Given the description of an element on the screen output the (x, y) to click on. 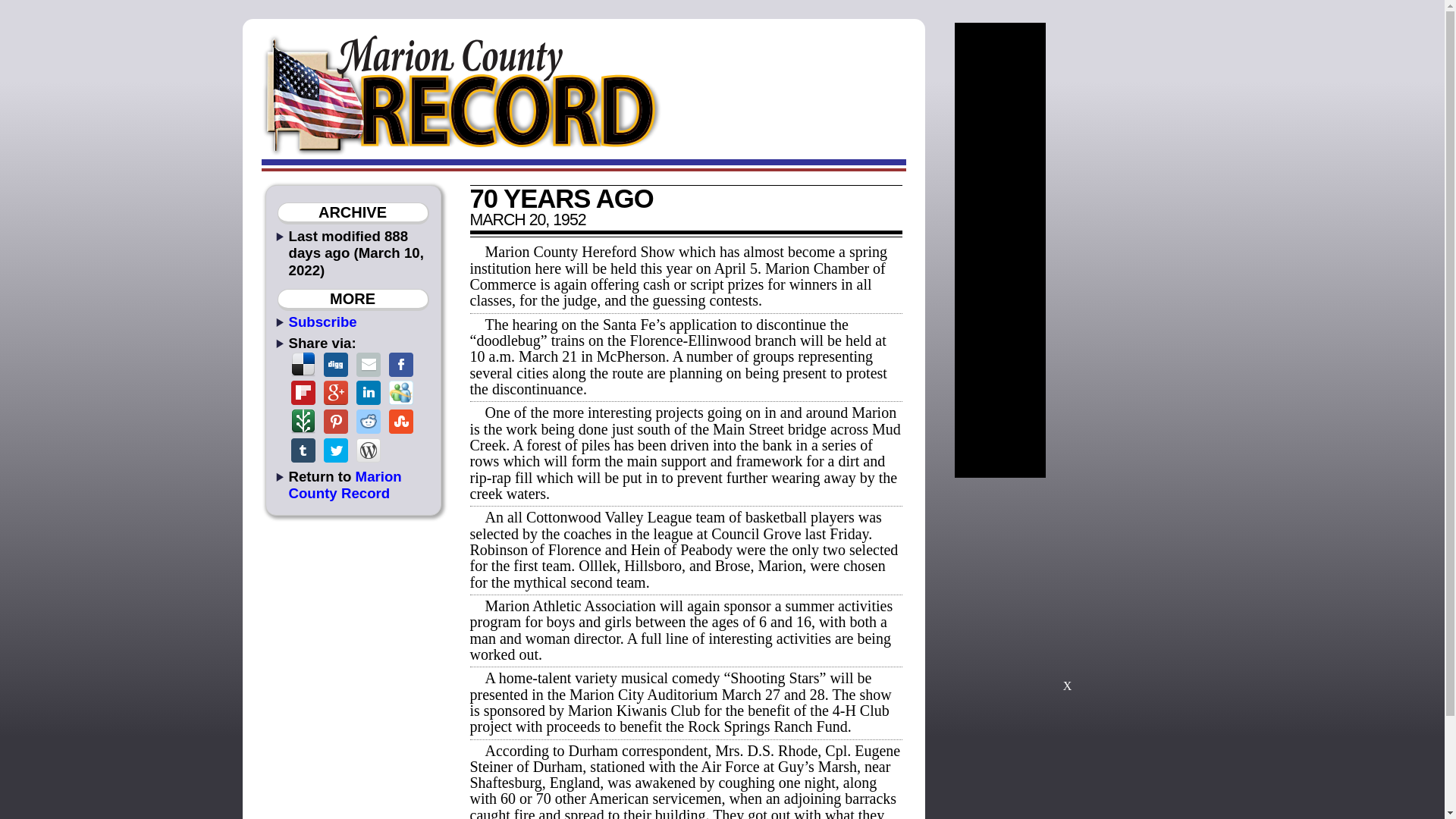
Marion County Record (344, 484)
Advertisement (1067, 591)
Subscribe (322, 321)
